Given the description of an element on the screen output the (x, y) to click on. 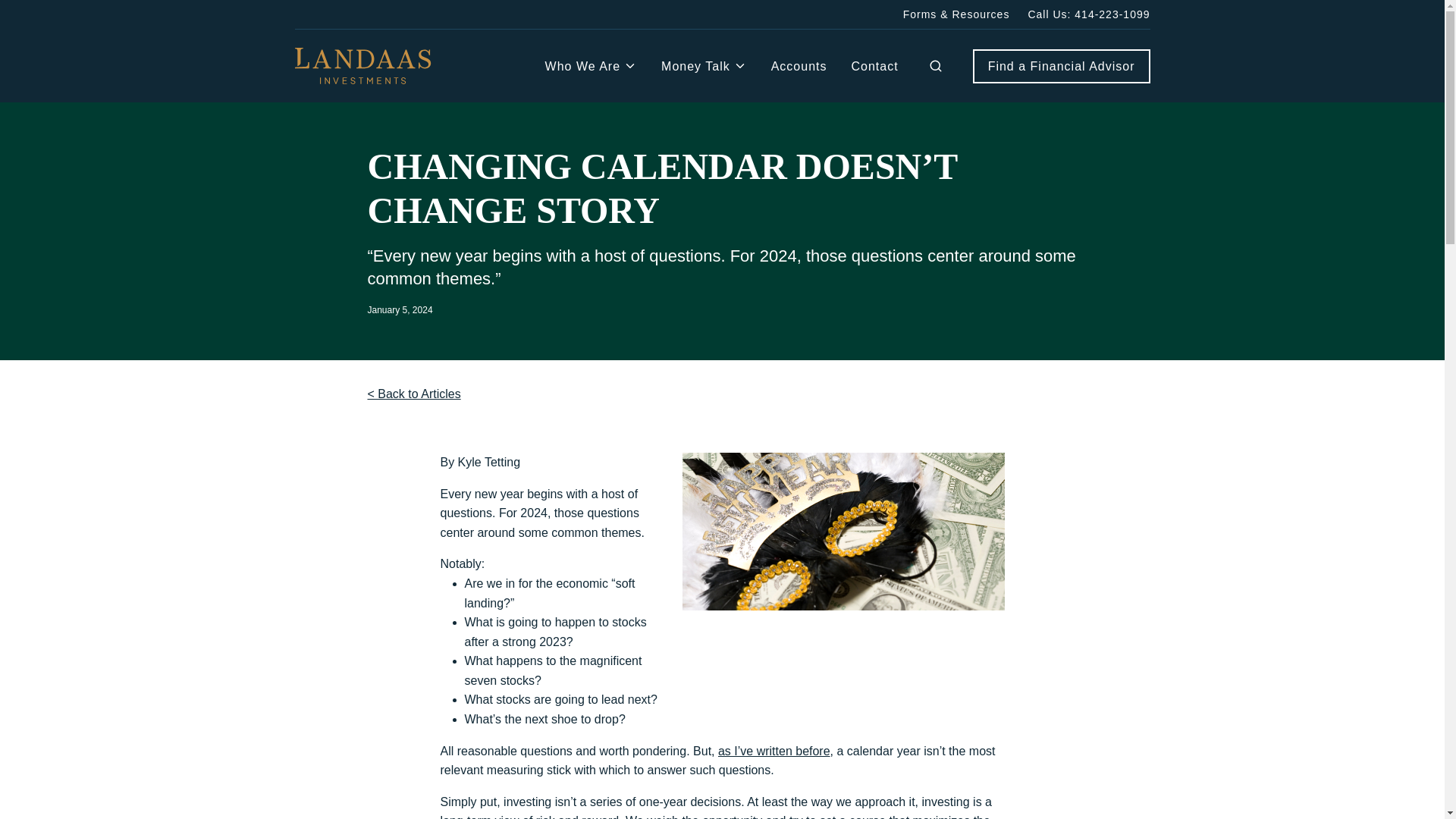
Who We Are (590, 65)
Call Us: 414-223-1099 (1088, 14)
Find a Financial Advisor (1061, 66)
Money Talk (703, 65)
